Given the description of an element on the screen output the (x, y) to click on. 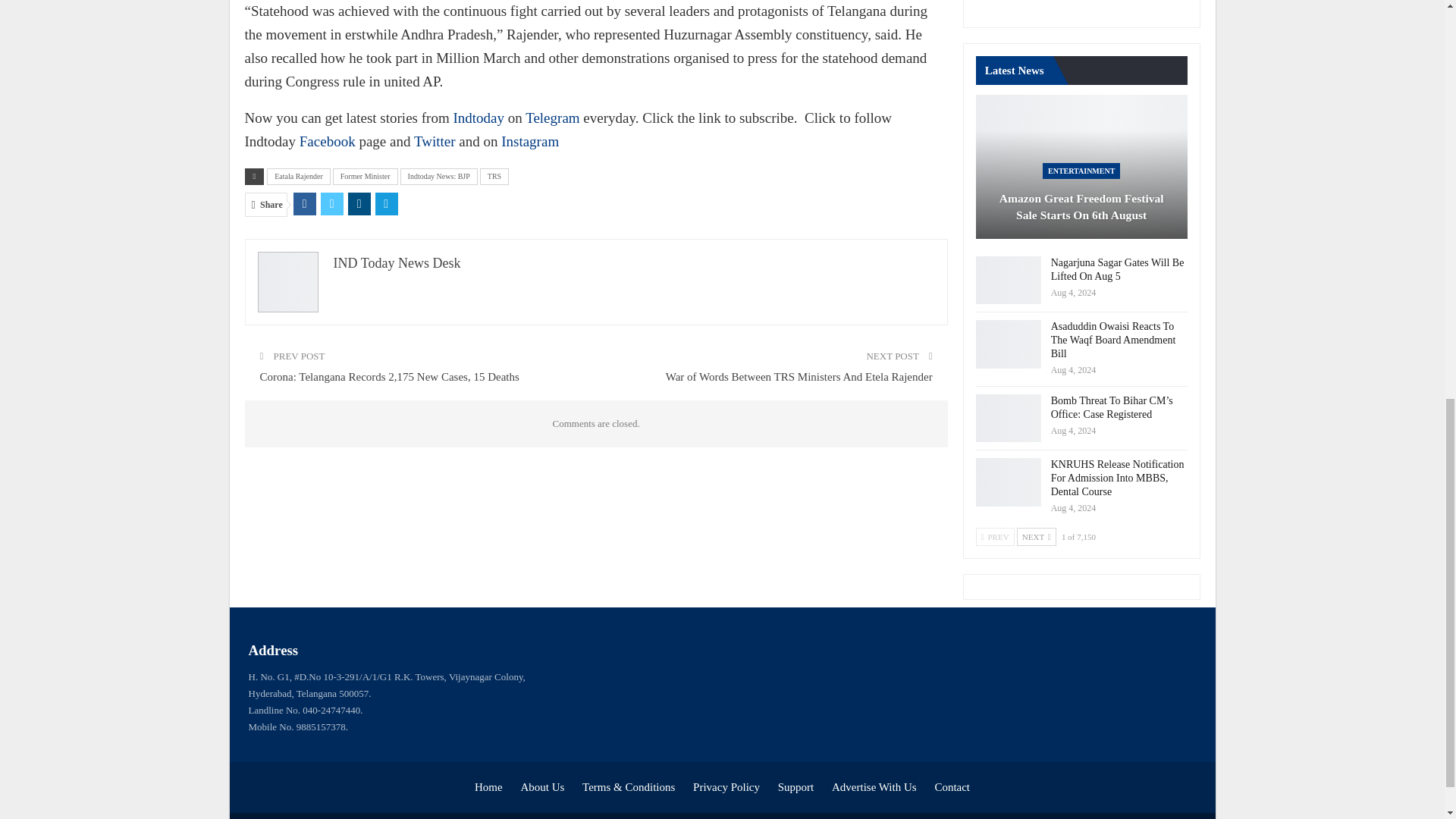
Eatala Rajender (298, 176)
Amazon Great Freedom Festival Sale Starts On 6th August (1081, 166)
Telegram (552, 117)
Indtoday News: BJP (438, 176)
Indtoday (477, 117)
Facebook (327, 141)
Instagram (529, 141)
Twitter (434, 141)
Former Minister (365, 176)
